Given the description of an element on the screen output the (x, y) to click on. 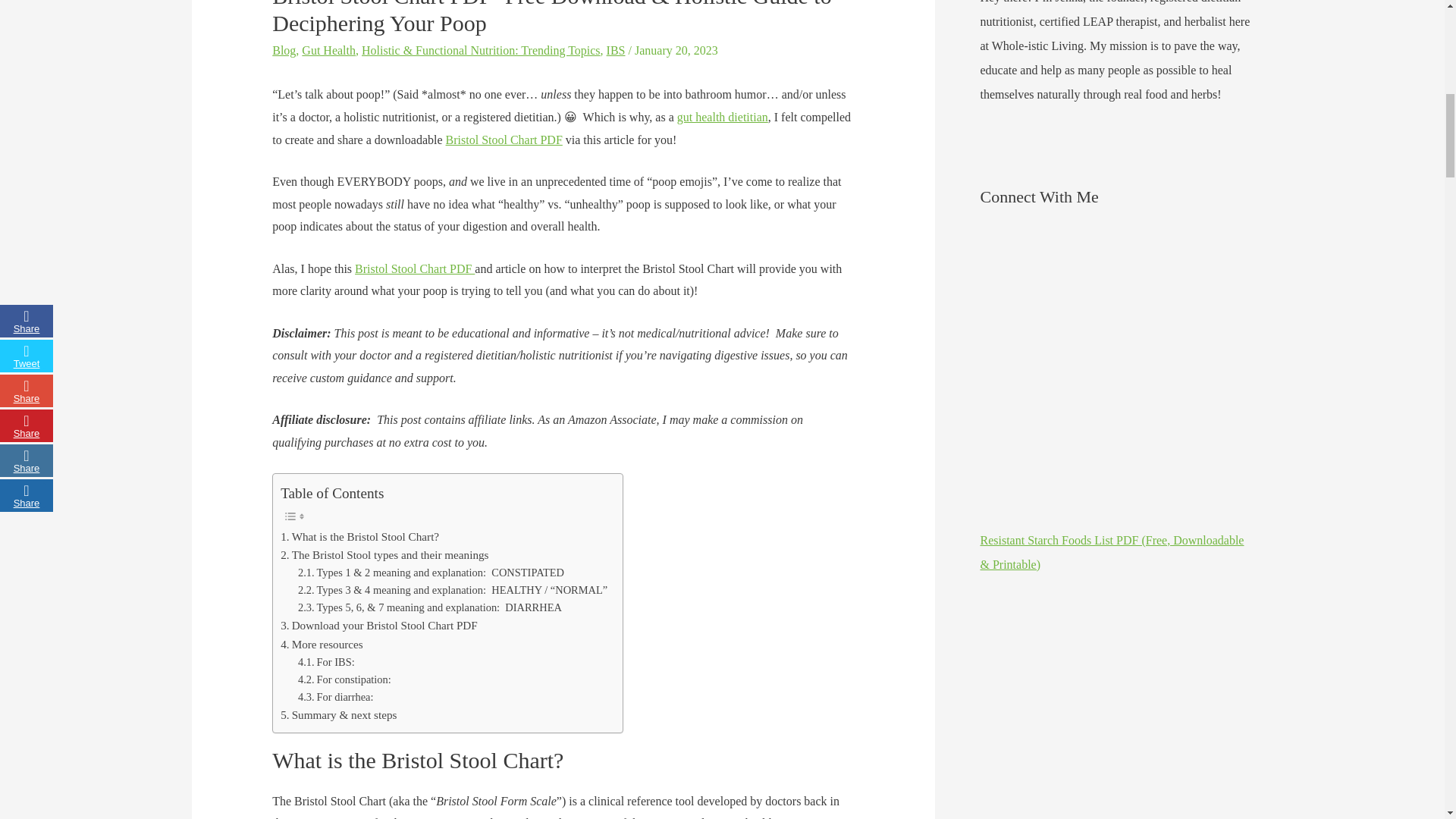
For diarrhea: (336, 696)
The Bristol Stool types and their meanings (384, 555)
For IBS: (326, 661)
For constipation: (344, 679)
What is the Bristol Stool Chart? (360, 536)
More resources (321, 644)
Download your Bristol Stool Chart PDF (379, 625)
